Given the description of an element on the screen output the (x, y) to click on. 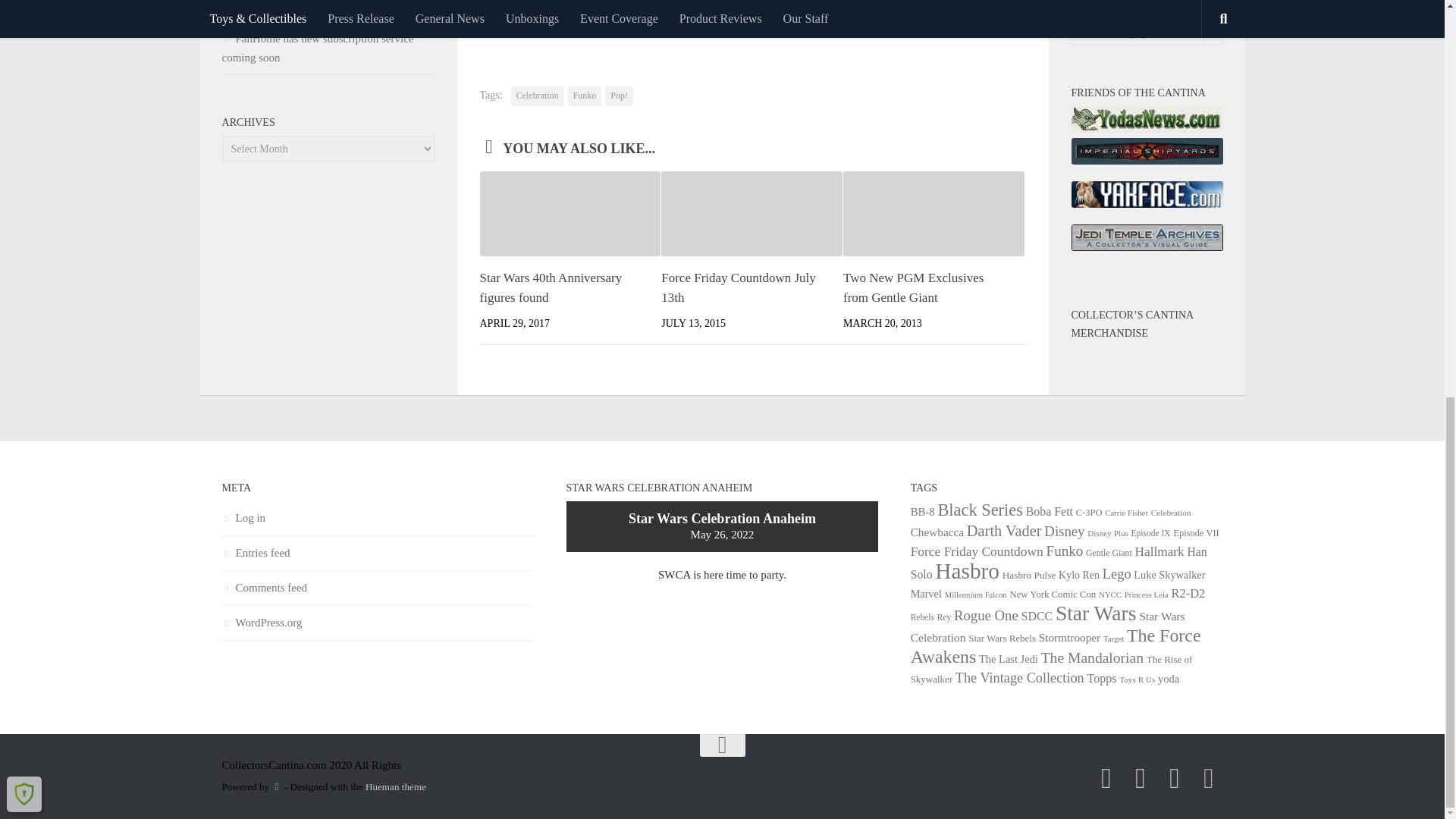
Pop! (619, 96)
Celebration (537, 96)
Star Wars 40th Anniversary figures found (550, 287)
Funko (584, 96)
